Given the description of an element on the screen output the (x, y) to click on. 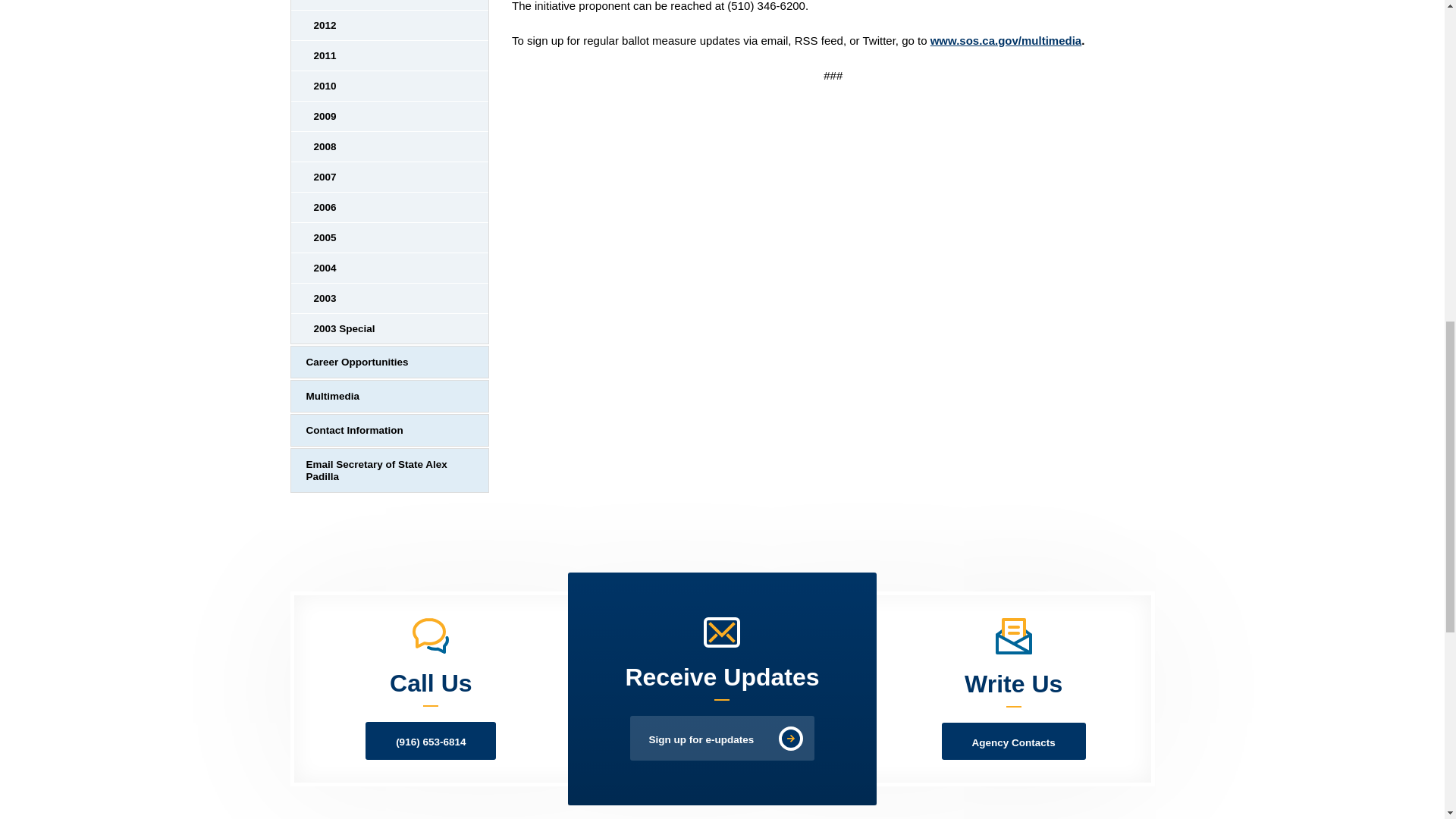
2013 (390, 4)
